Given the description of an element on the screen output the (x, y) to click on. 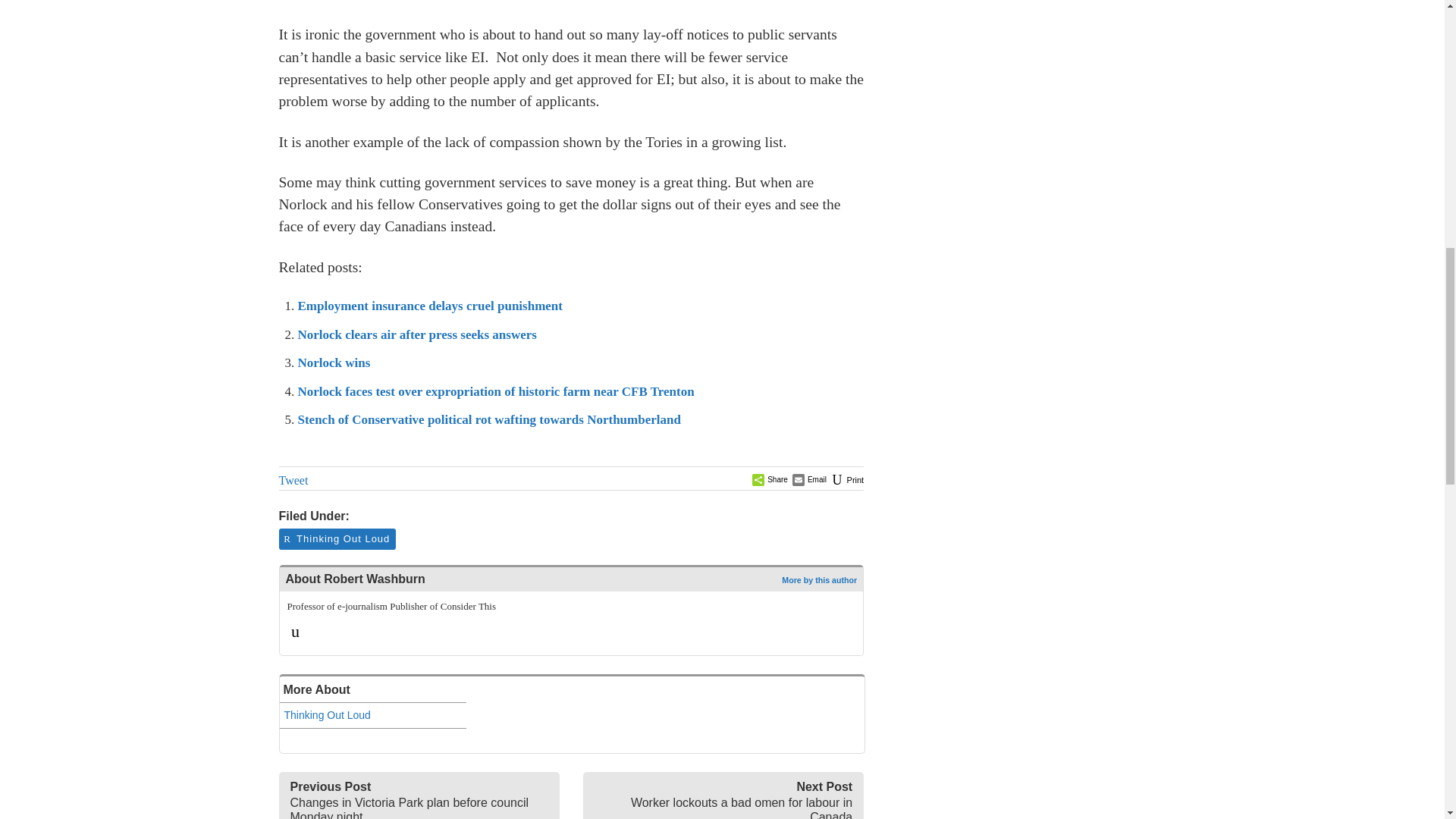
More by this author (819, 579)
Employment insurance delays cruel punishment (429, 305)
Thinking Out Loud (372, 714)
Norlock wins (333, 362)
See all posts by Robert Washburn (819, 579)
Norlock wins (333, 362)
Print (845, 479)
Employment insurance delays cruel punishment (429, 305)
